Given the description of an element on the screen output the (x, y) to click on. 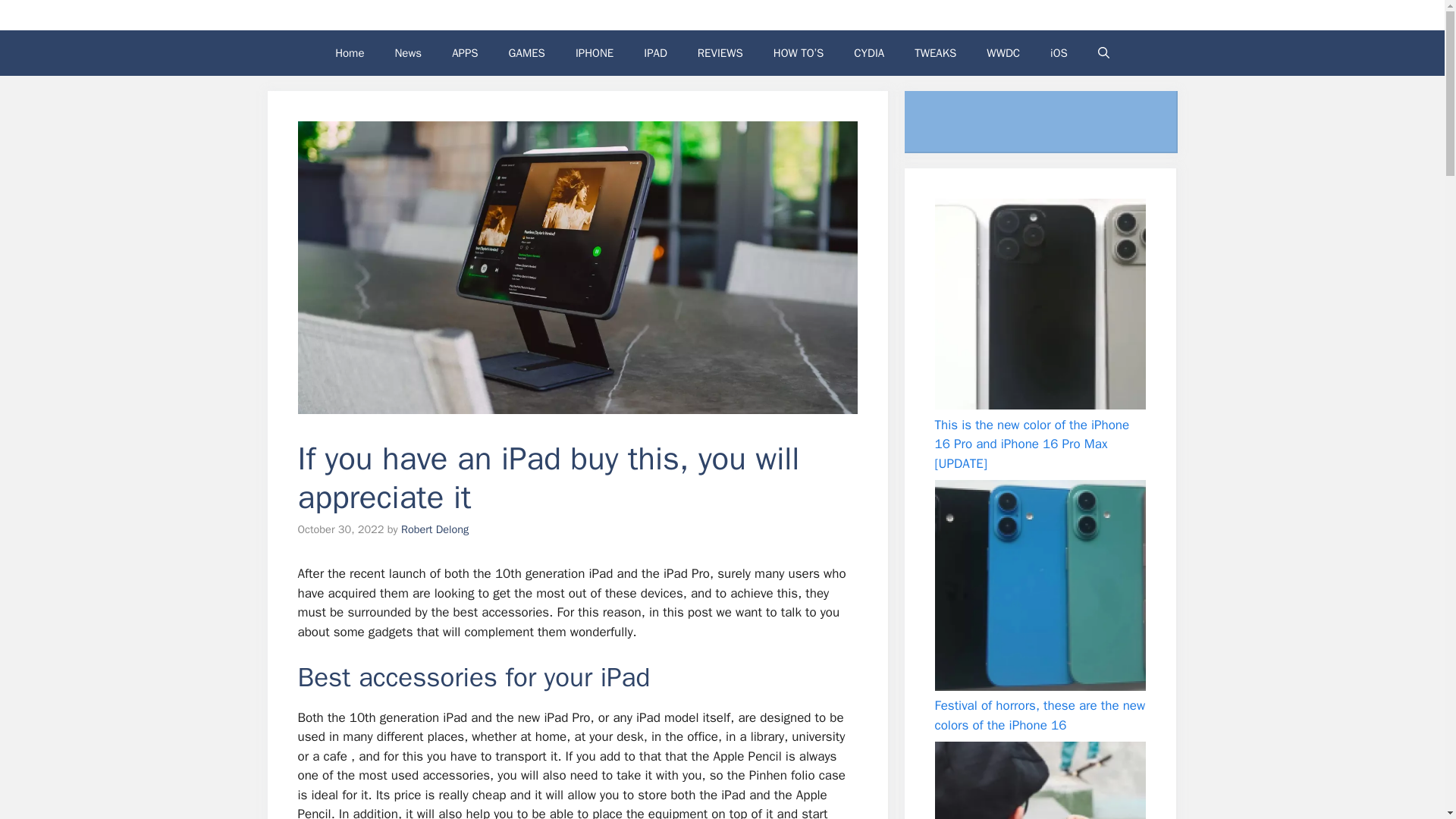
REVIEWS (720, 53)
APPS (464, 53)
CYDIA (868, 53)
iOS (1059, 53)
Precision at your fingertips (1039, 780)
News (407, 53)
WWDC (1003, 53)
IPAD (655, 53)
